Given the description of an element on the screen output the (x, y) to click on. 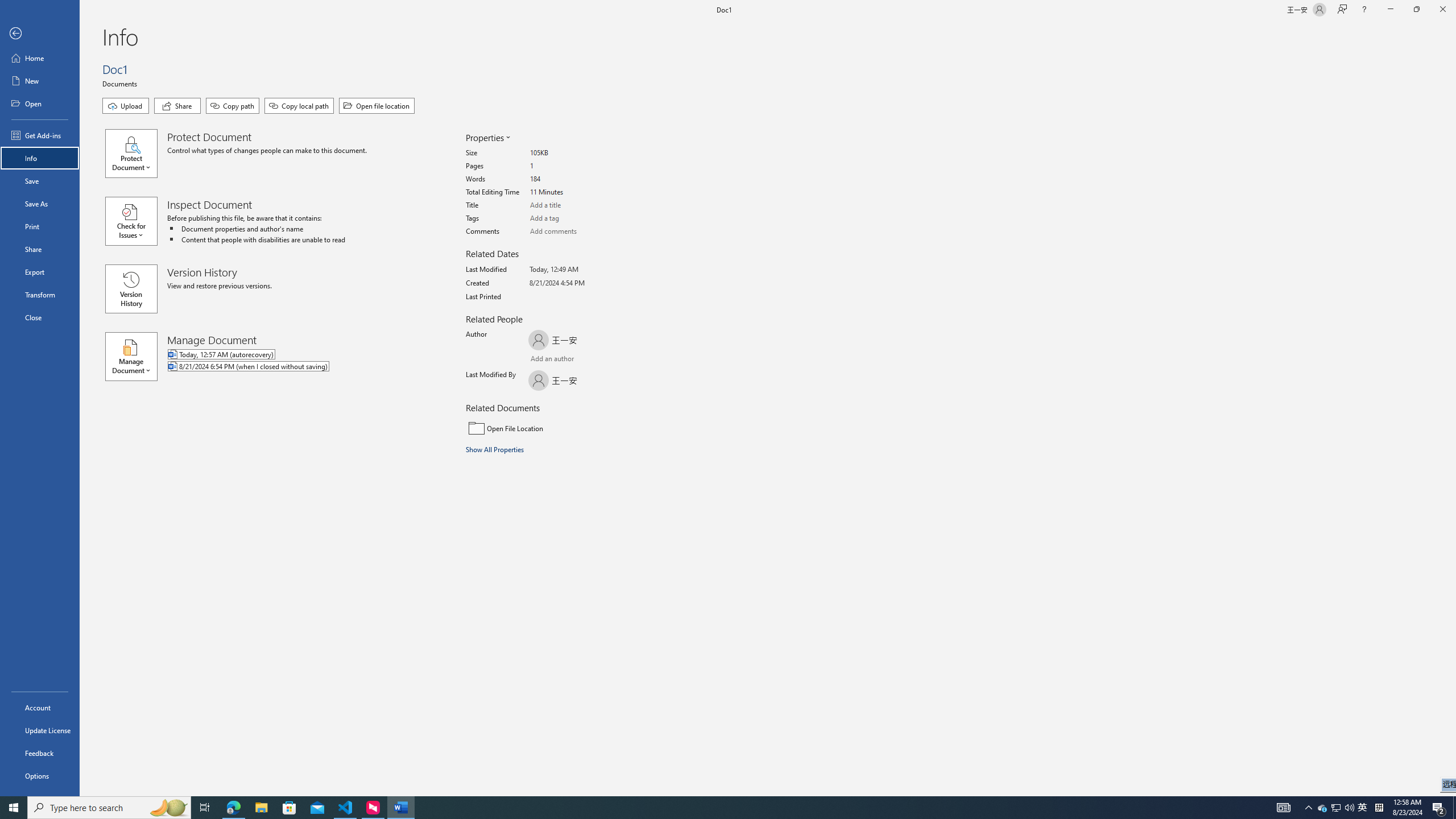
Get Add-ins (40, 134)
Copy local path (298, 105)
Show All Properties (495, 448)
Browse Address Book (595, 359)
 Today, 12:57 AM (autorecovery) (295, 354)
